Given the description of an element on the screen output the (x, y) to click on. 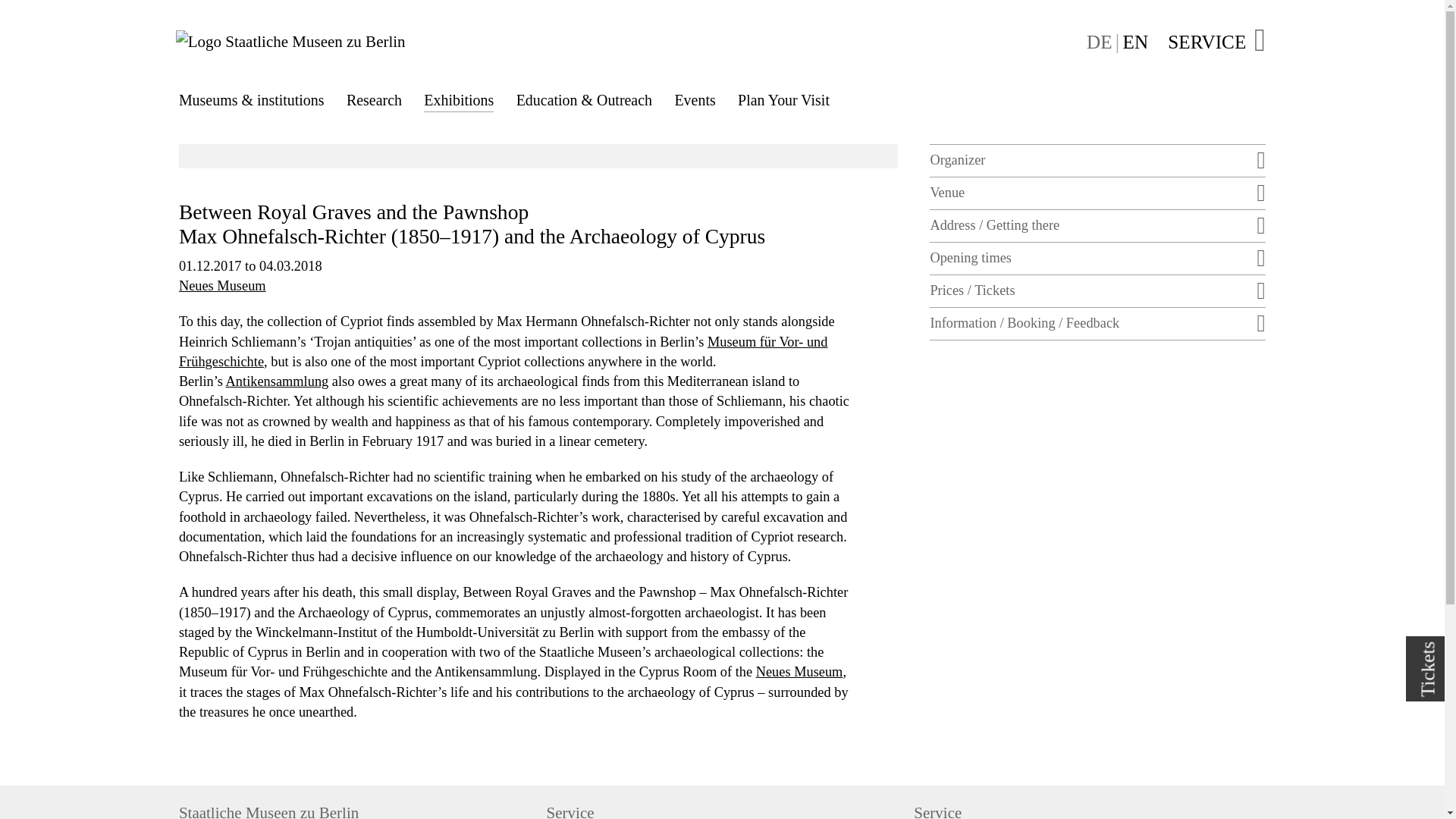
to the website (277, 381)
to the website (503, 351)
to the website (799, 671)
